Given the description of an element on the screen output the (x, y) to click on. 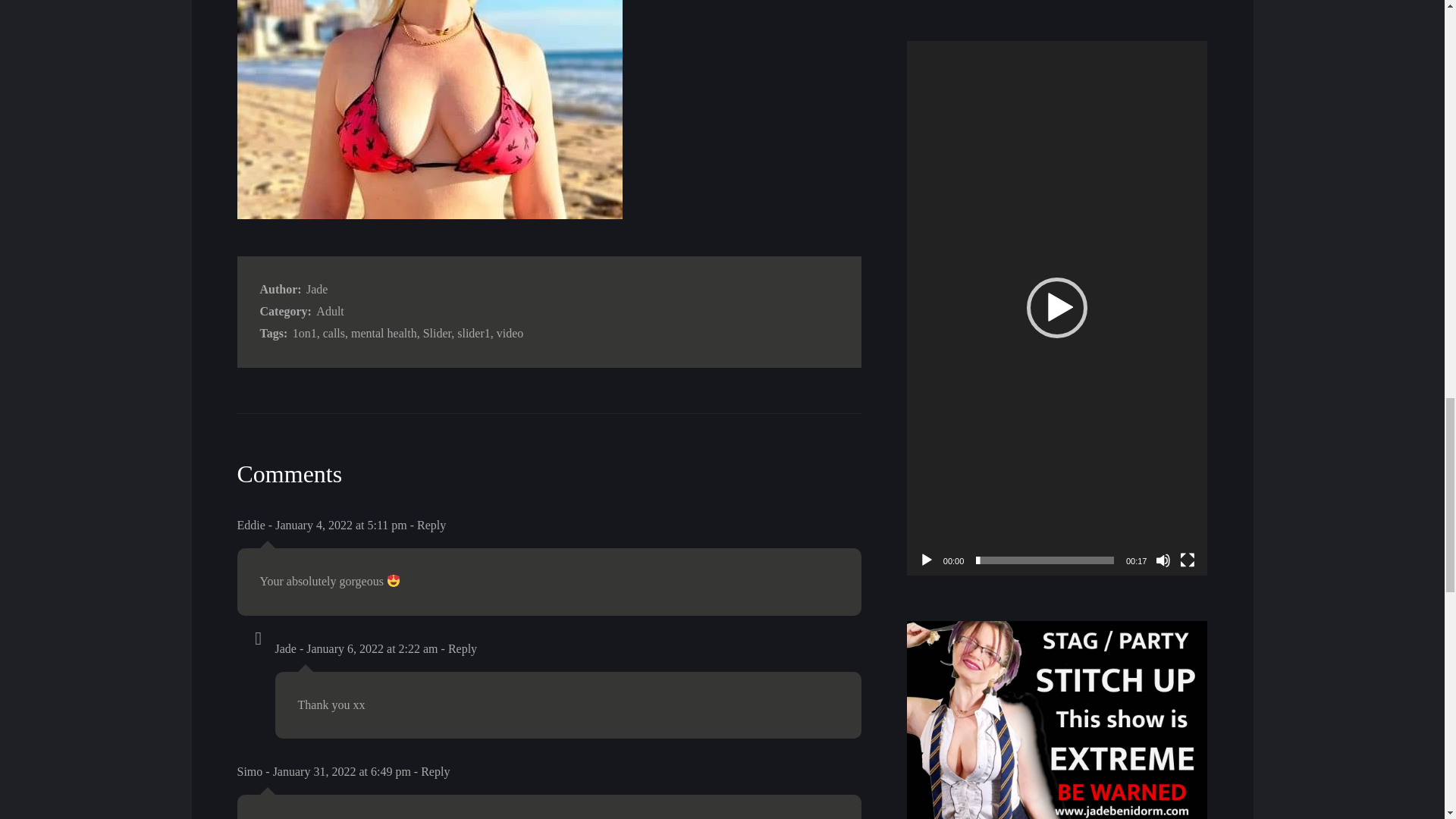
January 6, 2022 at 2:22 am (371, 648)
Reply (430, 524)
slider1 (473, 332)
calls (334, 332)
Fullscreen (1187, 560)
January 31, 2022 at 6:49 pm (341, 771)
Slider (437, 332)
1on1 (304, 332)
Adult (329, 310)
Reply (462, 648)
Mute (1163, 560)
Jade (285, 648)
January 4, 2022 at 5:11 pm (341, 524)
mental health (383, 332)
video (510, 332)
